Given the description of an element on the screen output the (x, y) to click on. 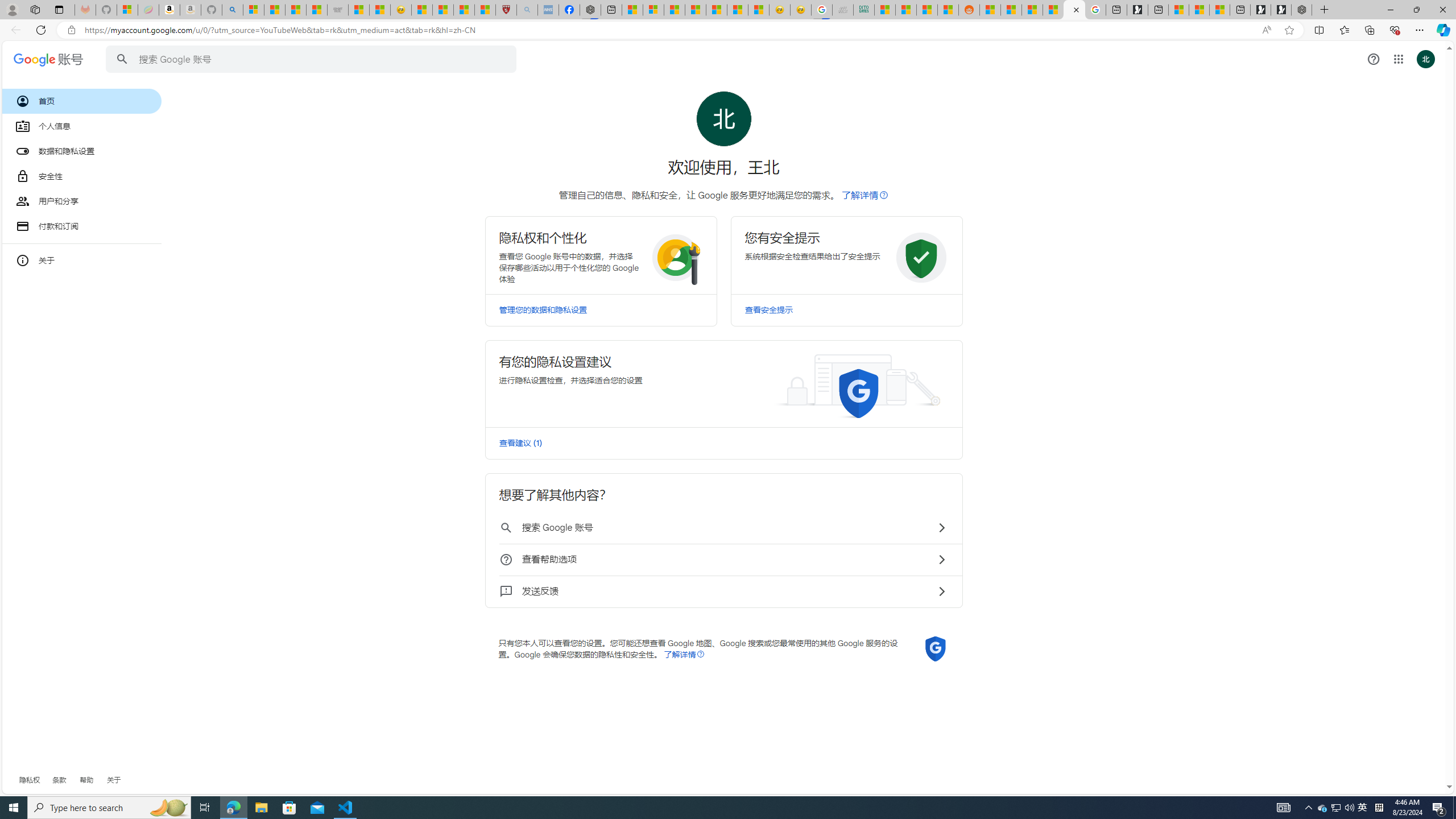
Recipes - MSN (421, 9)
